Given the description of an element on the screen output the (x, y) to click on. 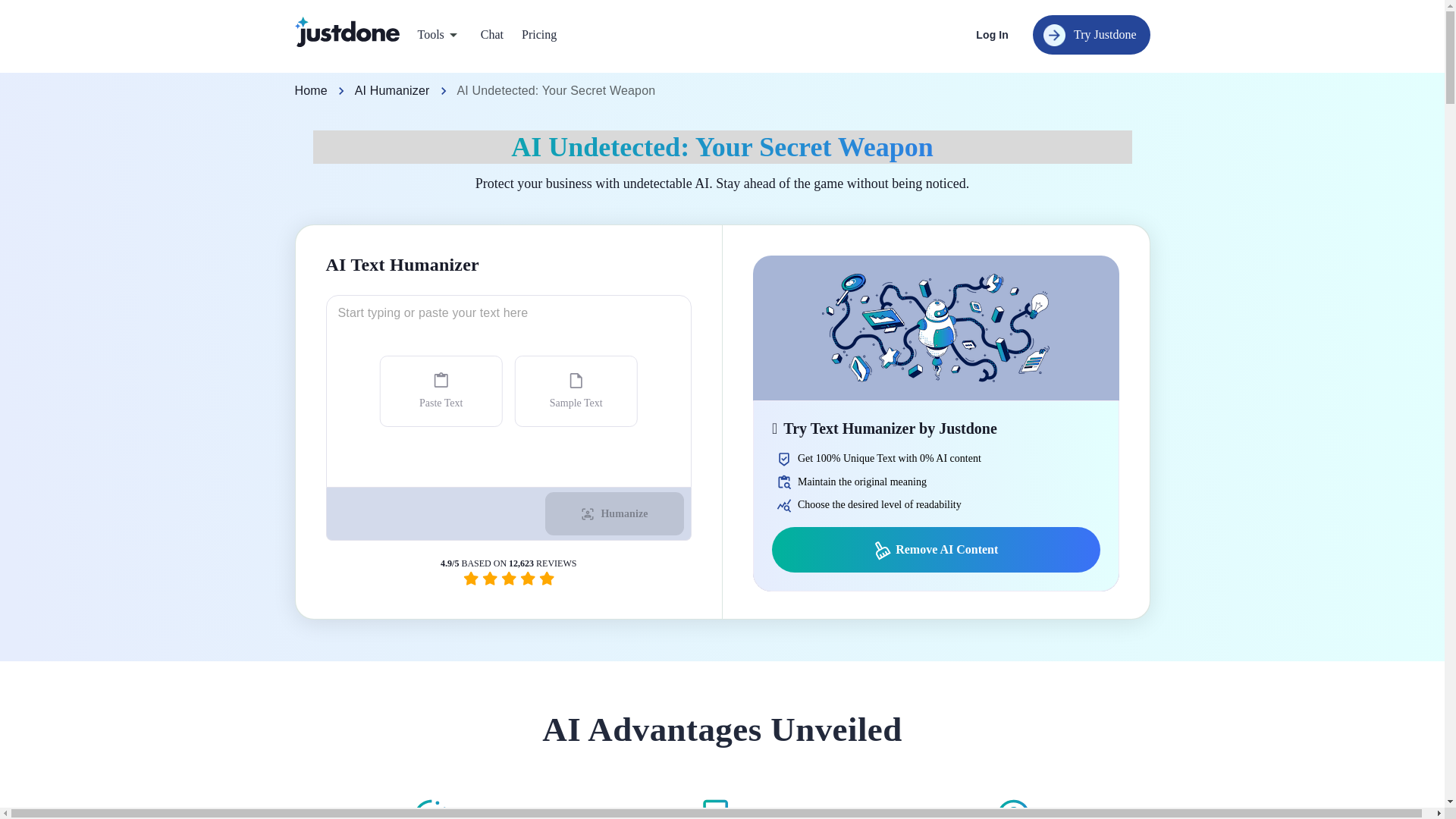
Pricing (538, 34)
See All (721, 87)
Sample Text (576, 390)
AI Humanizer (392, 90)
AI Writing Tools (857, 81)
AI Essay Writer (533, 79)
Home (310, 90)
Paste Text (441, 390)
Remove AI Content (935, 549)
AI Marketing (703, 81)
Log In (992, 34)
Try Justdone (1091, 34)
AI Story Writer (857, 79)
AI Competitor Analysis (703, 79)
Humanize (614, 513)
